Given the description of an element on the screen output the (x, y) to click on. 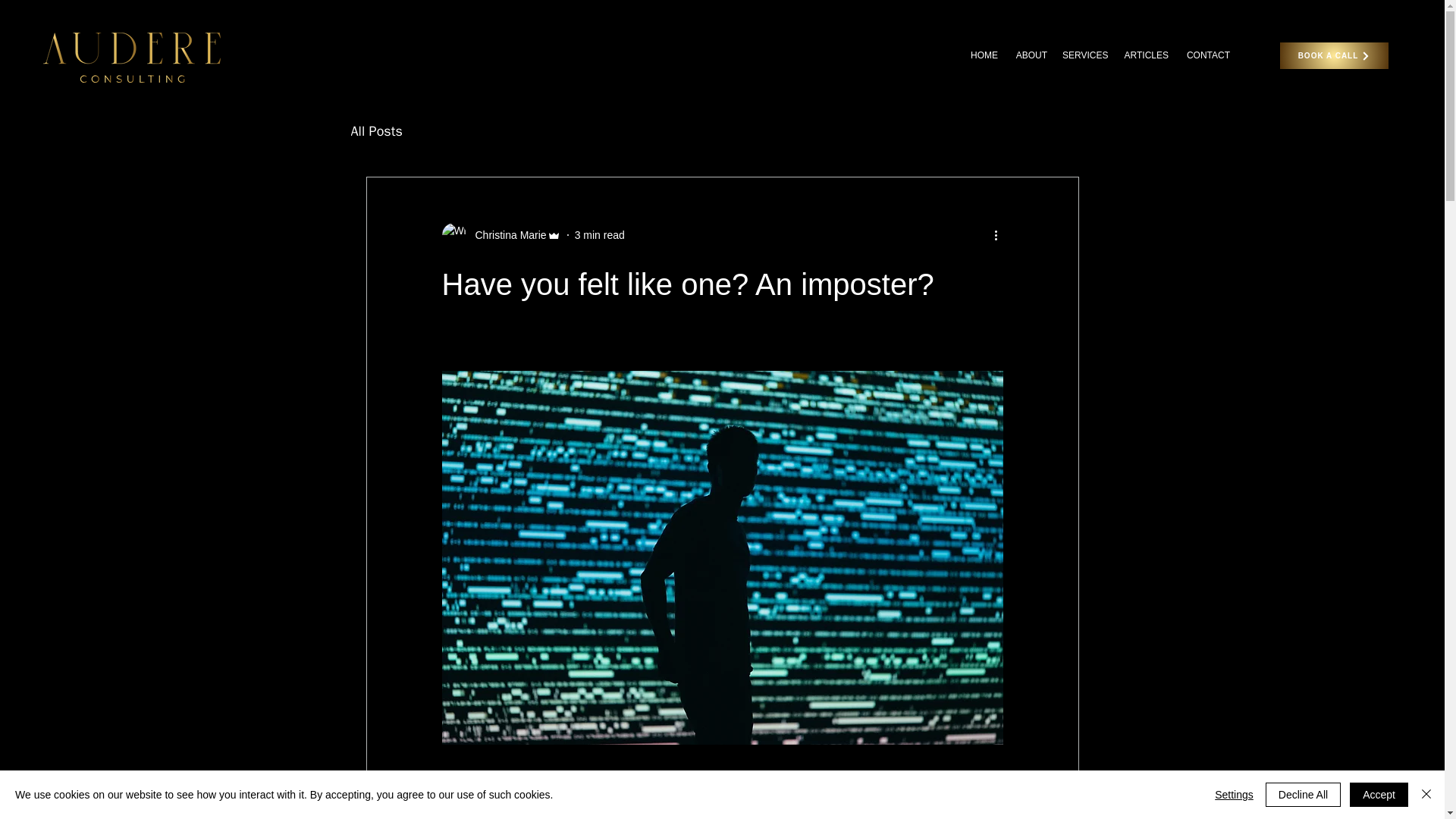
CONTACT (1206, 55)
Christina Marie (500, 234)
Christina Marie (505, 235)
3 min read (599, 234)
HOME (983, 55)
ABOUT (1030, 55)
All Posts (375, 131)
BOOK A CALL (1334, 55)
ARTICLES (1145, 55)
